Given the description of an element on the screen output the (x, y) to click on. 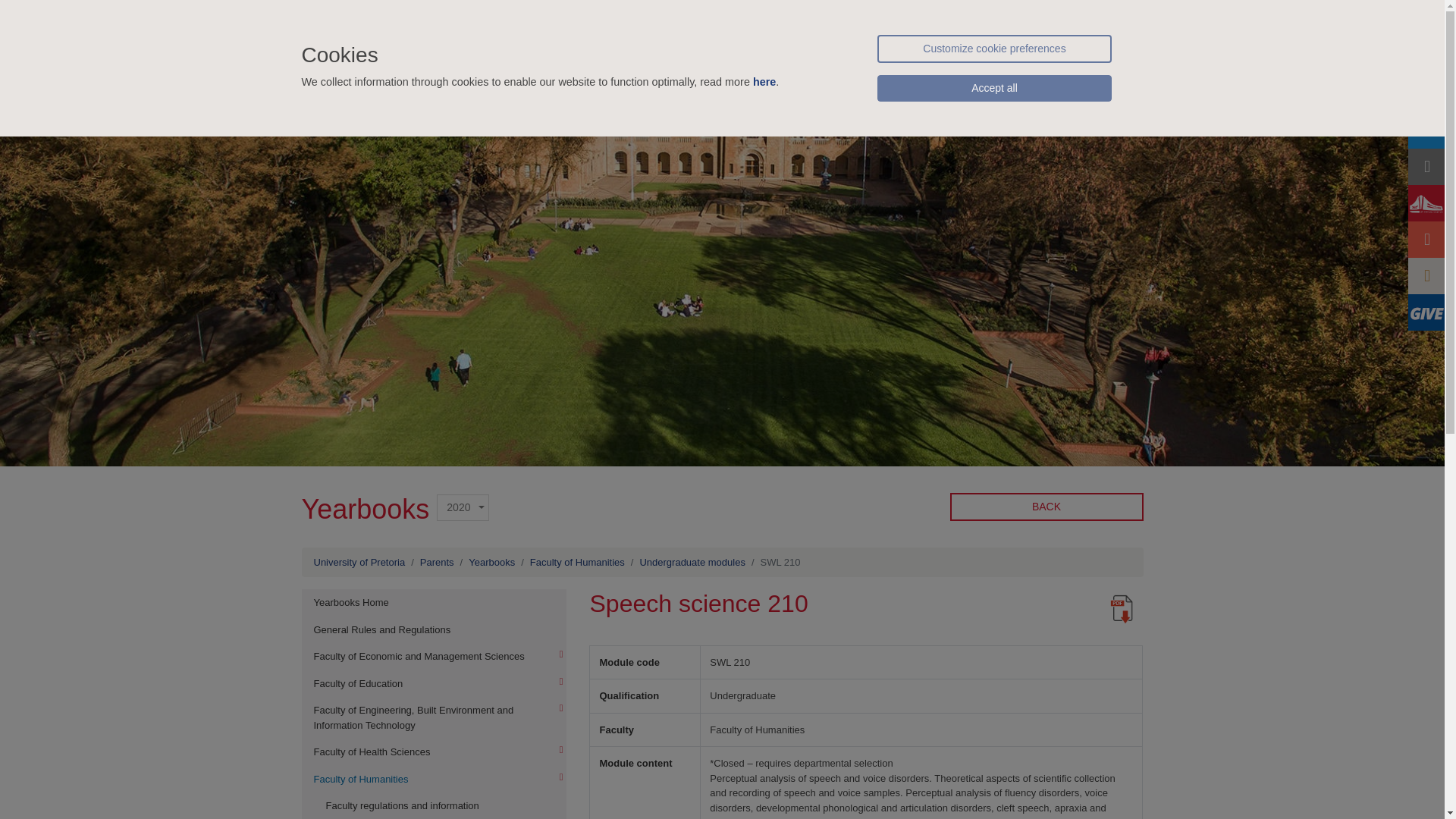
here (764, 81)
